Given the description of an element on the screen output the (x, y) to click on. 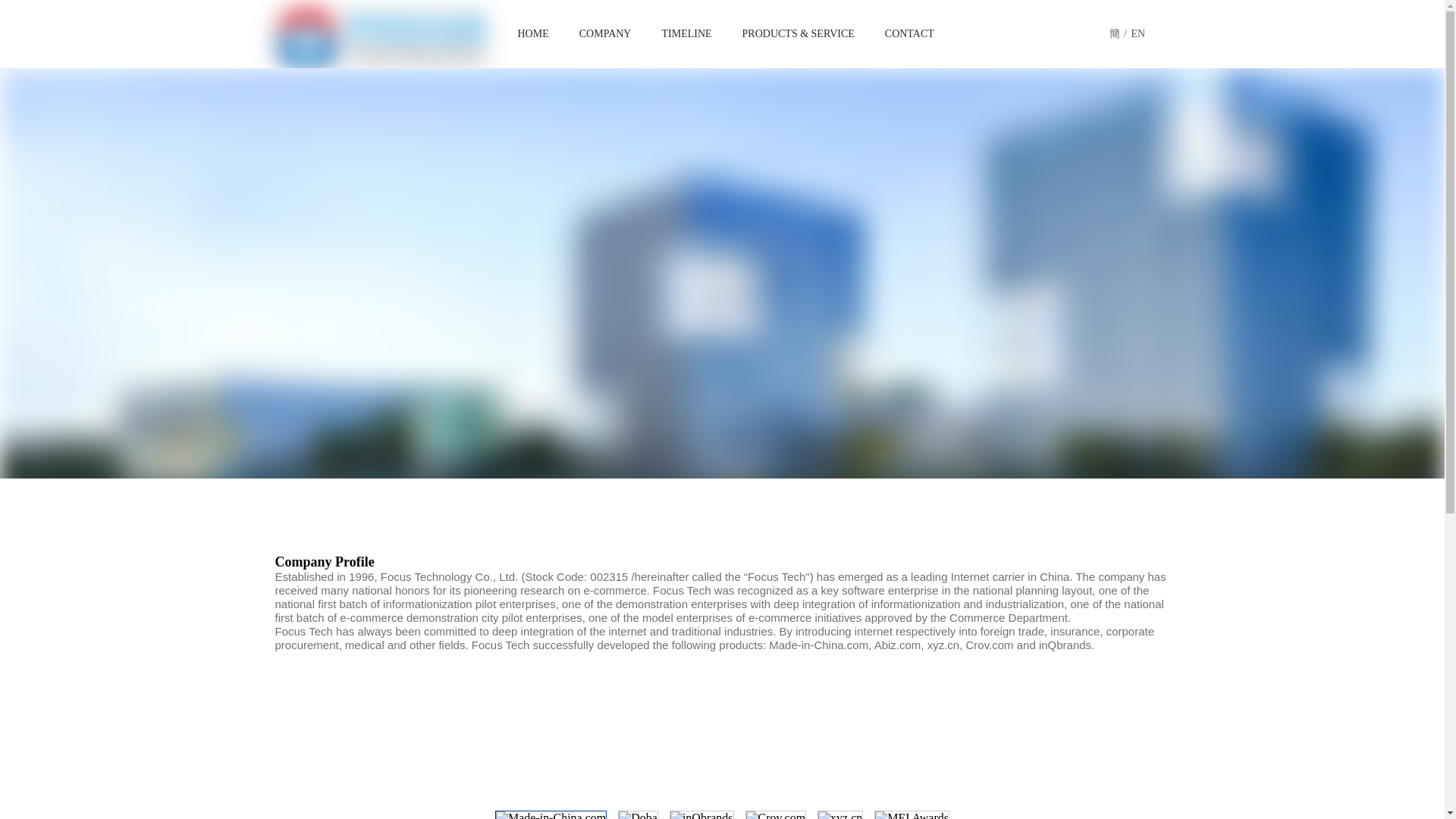
EN (1137, 34)
COMPANY (605, 33)
HOME (532, 33)
focus (380, 39)
TIMELINE (686, 33)
CONTACT (909, 33)
